Given the description of an element on the screen output the (x, y) to click on. 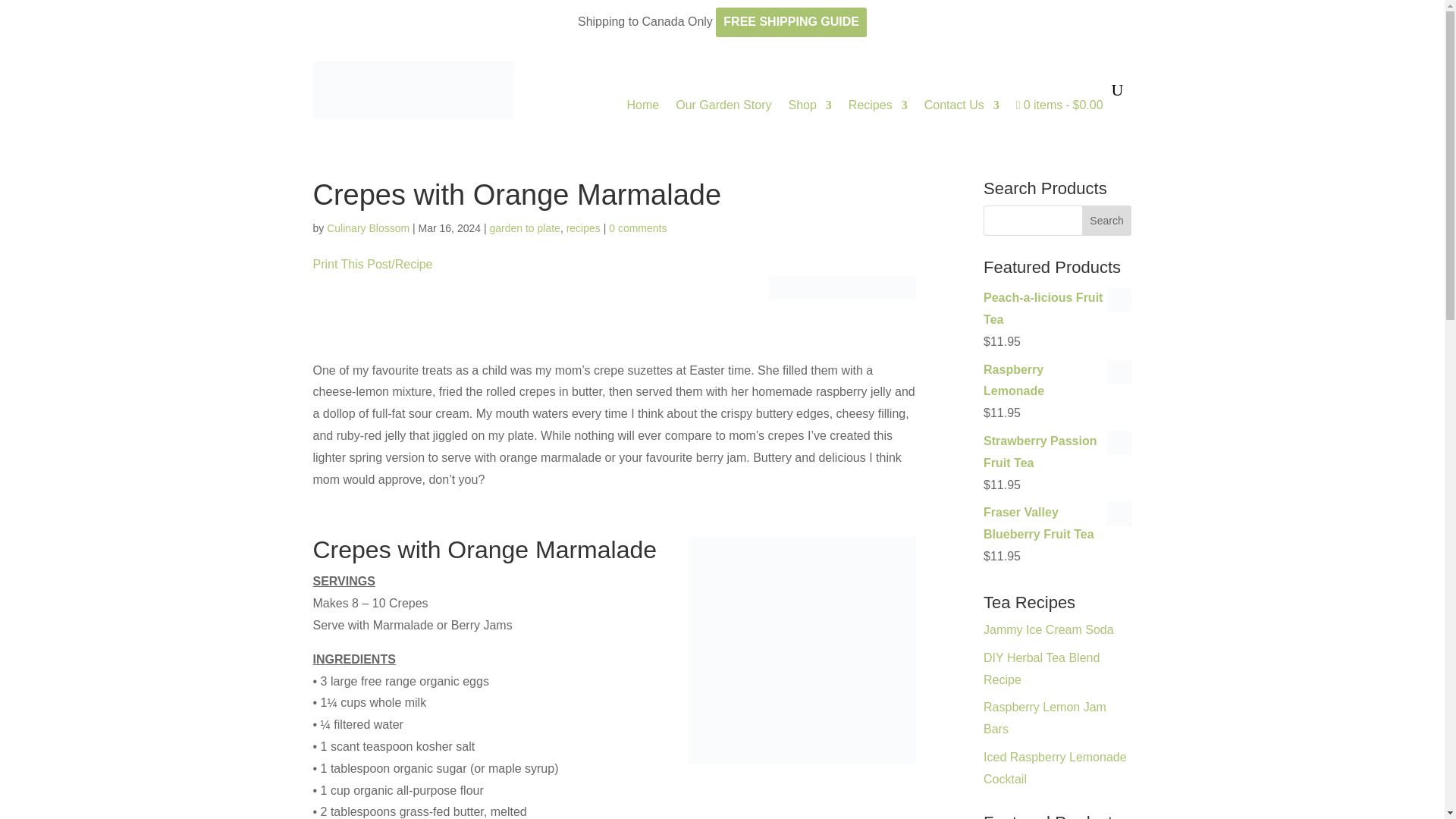
Contact Us (961, 105)
Search (1106, 220)
Recipes (877, 105)
Culinary Blossom (367, 227)
Tea Recipes (877, 105)
Raspberry Lemonade (1057, 381)
garden to plate (524, 227)
About (723, 105)
Our Garden Story (723, 105)
recipes (582, 227)
Search (1106, 220)
Peach-a-licious Fruit Tea (1057, 309)
0 comments (637, 227)
